Given the description of an element on the screen output the (x, y) to click on. 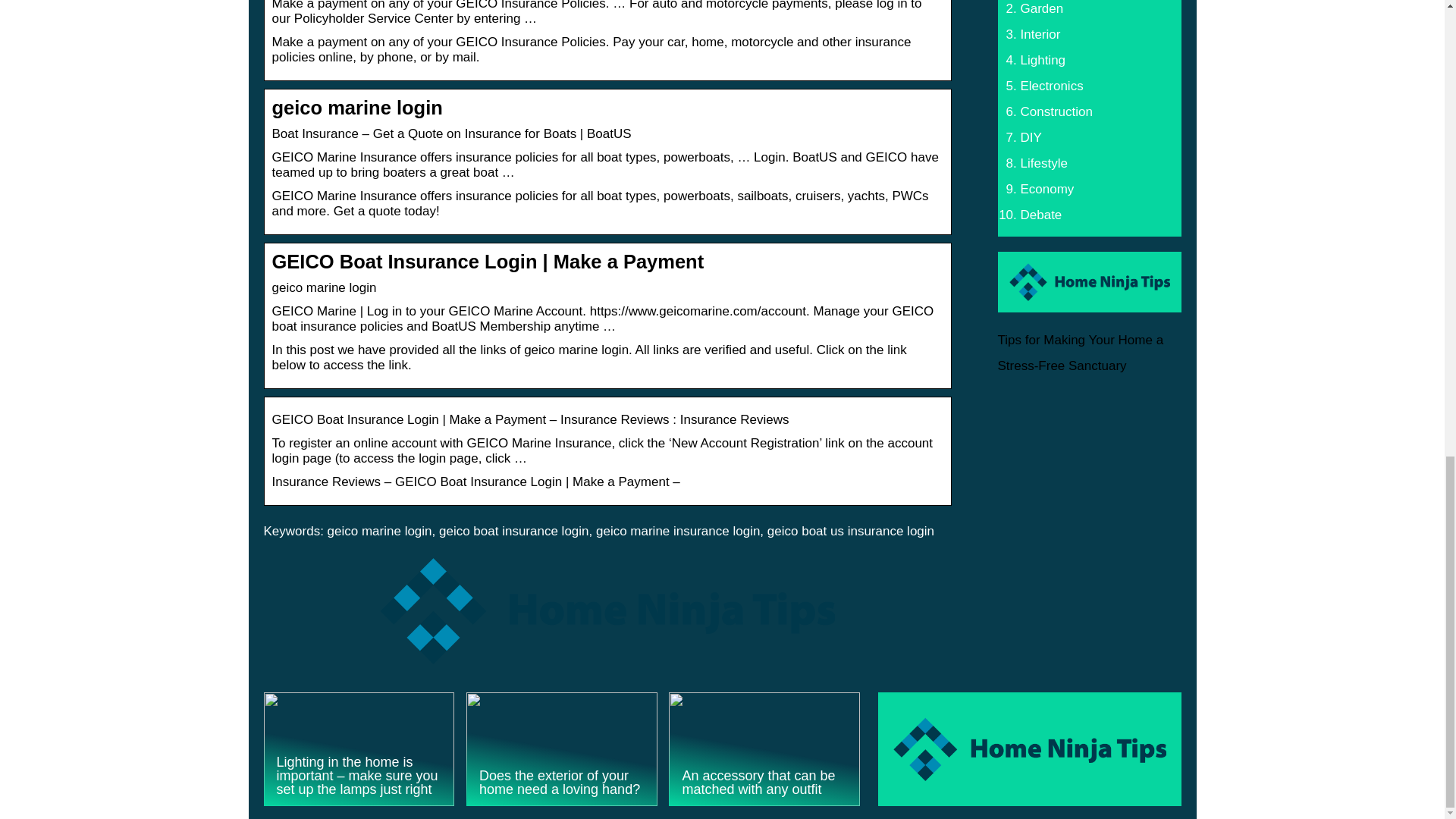
Lifestyle (1043, 163)
Tips for Making Your Home a Stress-Free Sanctuary (1080, 352)
Interior (1040, 34)
Electronics (1051, 85)
An accessory that can be matched with any outfit (764, 748)
DIY (1031, 137)
Economy (1047, 188)
Construction (1056, 111)
Lighting (1042, 60)
Debate (1041, 214)
